Given the description of an element on the screen output the (x, y) to click on. 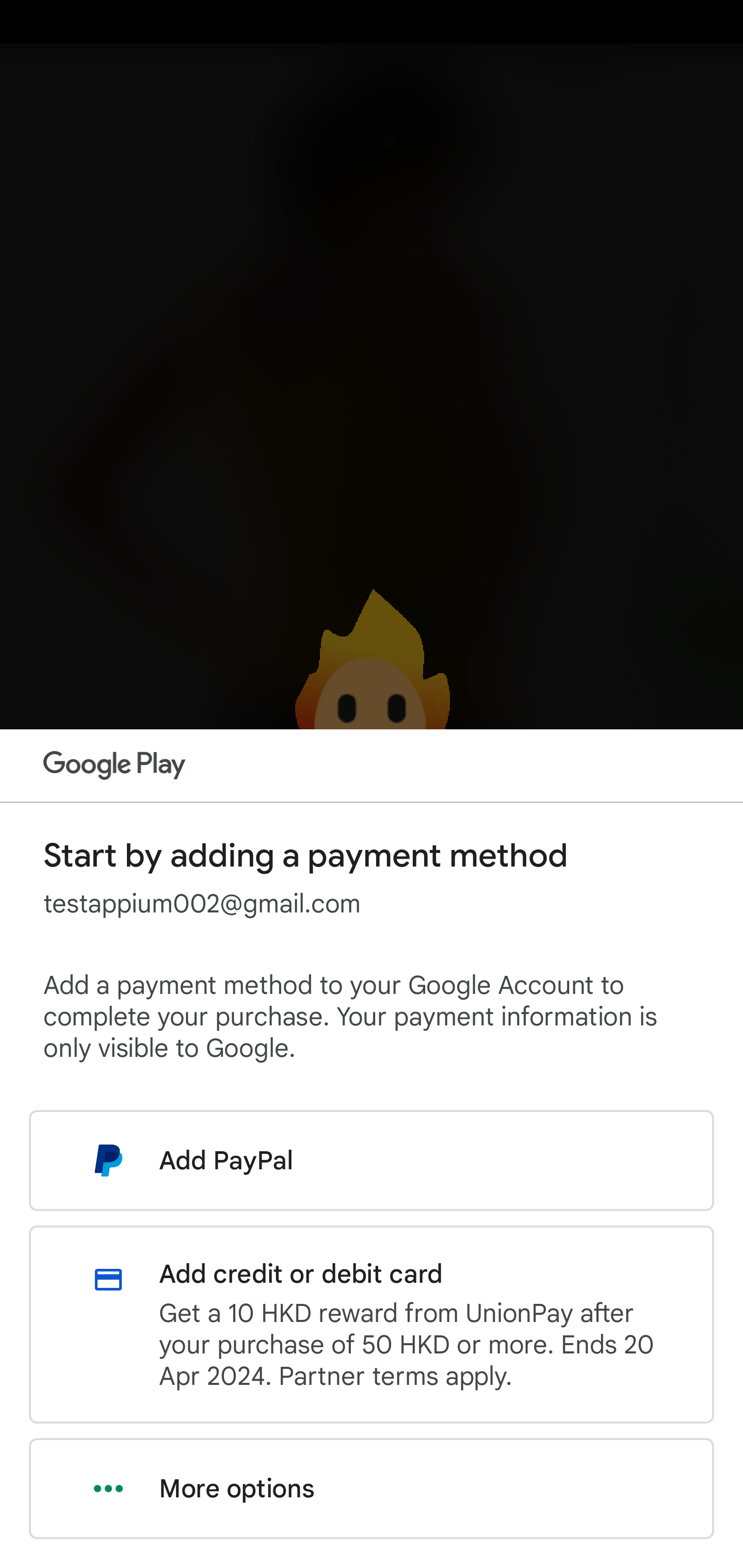
Add PayPal (371, 1160)
More options (371, 1488)
